Given the description of an element on the screen output the (x, y) to click on. 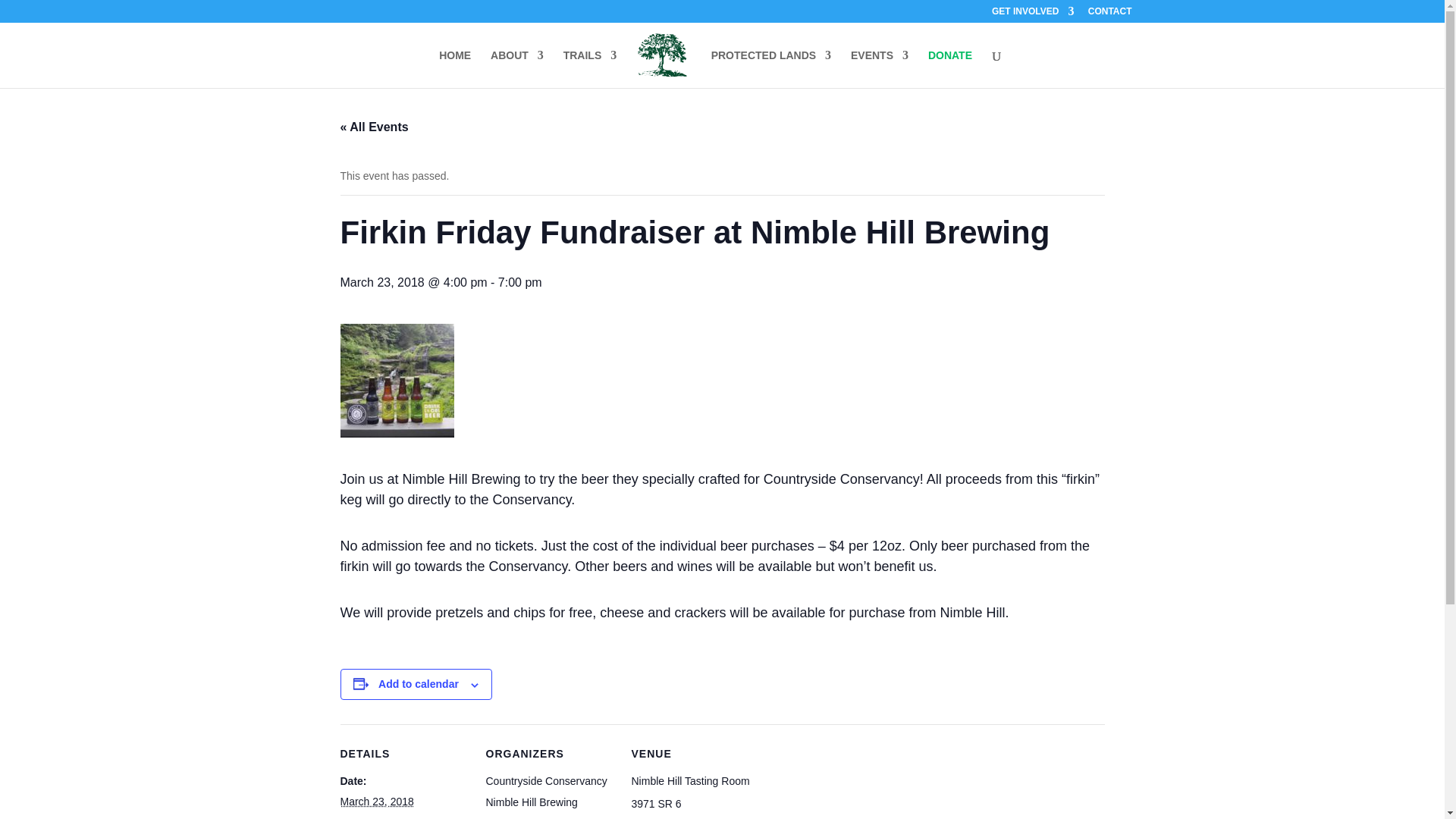
CONTACT (1109, 14)
PROTECTED LANDS (771, 68)
EVENTS (879, 68)
ABOUT (516, 68)
DONATE (950, 68)
2018-03-23 (376, 801)
GET INVOLVED (1032, 14)
TRAILS (590, 68)
HOME (454, 68)
